Given the description of an element on the screen output the (x, y) to click on. 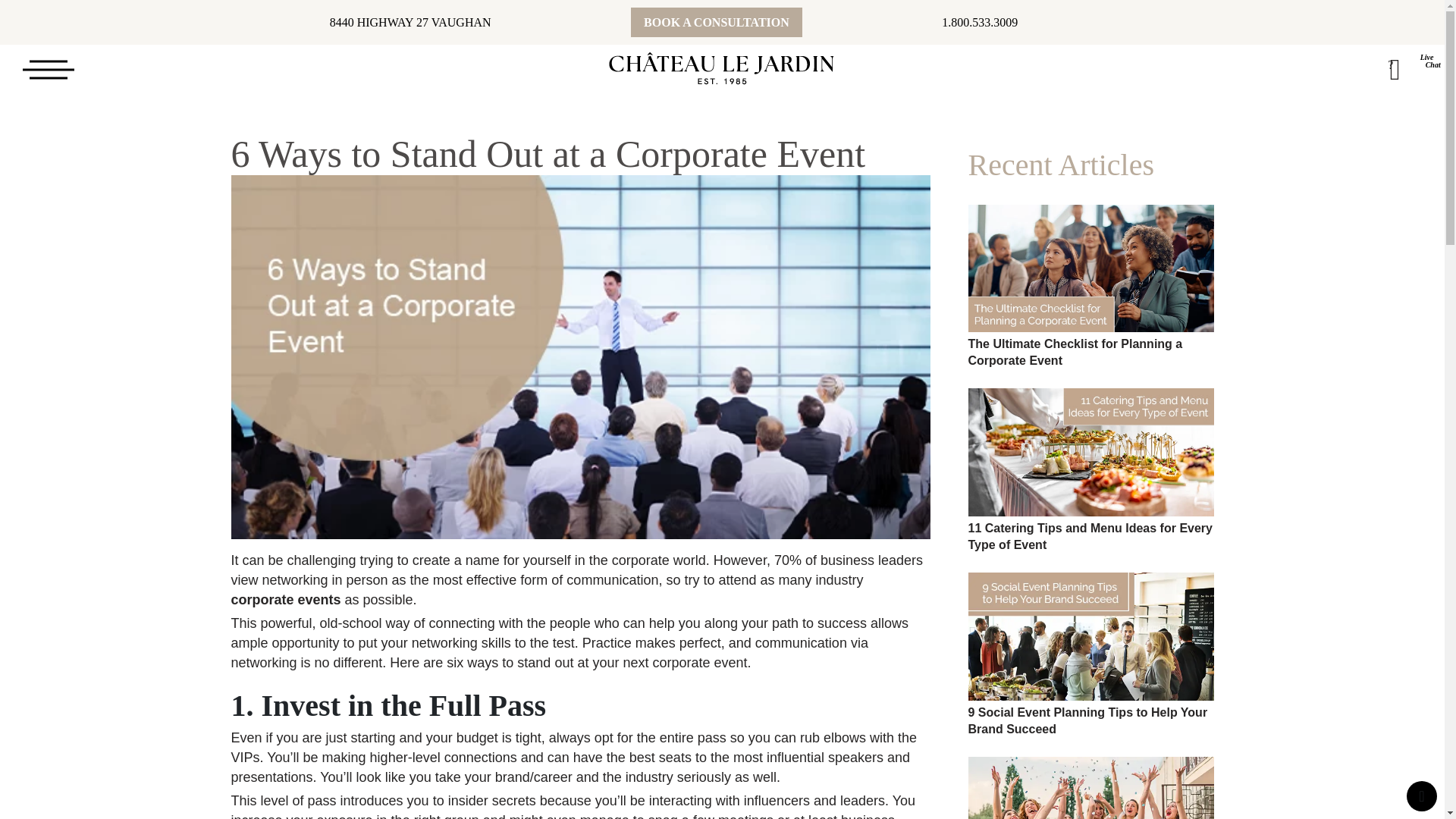
8440 HIGHWAY 27 VAUGHAN (411, 21)
1.800.533.3009 (979, 21)
BOOK A CONSULTATION (716, 21)
